Given the description of an element on the screen output the (x, y) to click on. 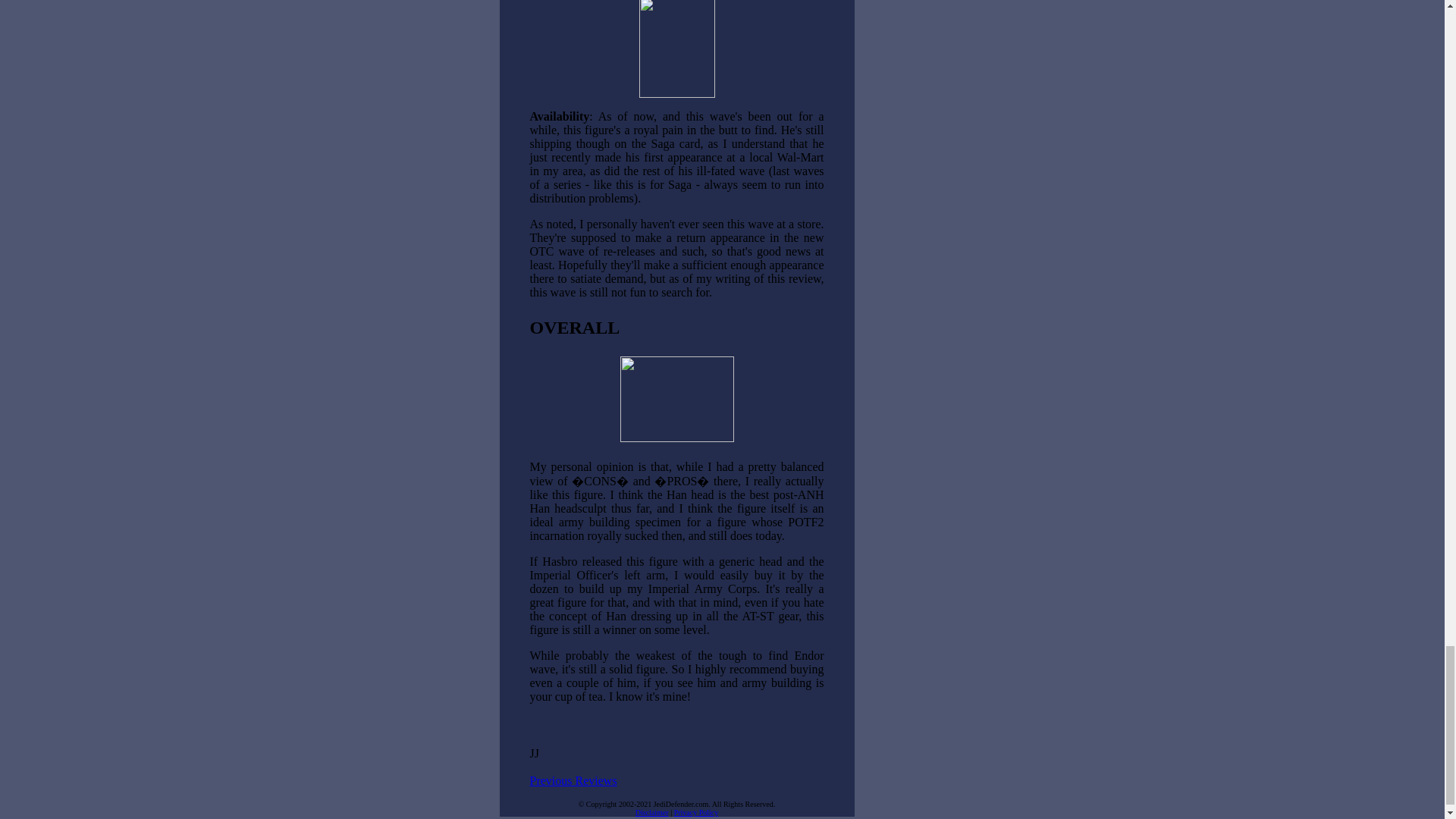
Previous Reviews (572, 780)
Privacy Policy (696, 812)
Disclaimer (651, 812)
